Given the description of an element on the screen output the (x, y) to click on. 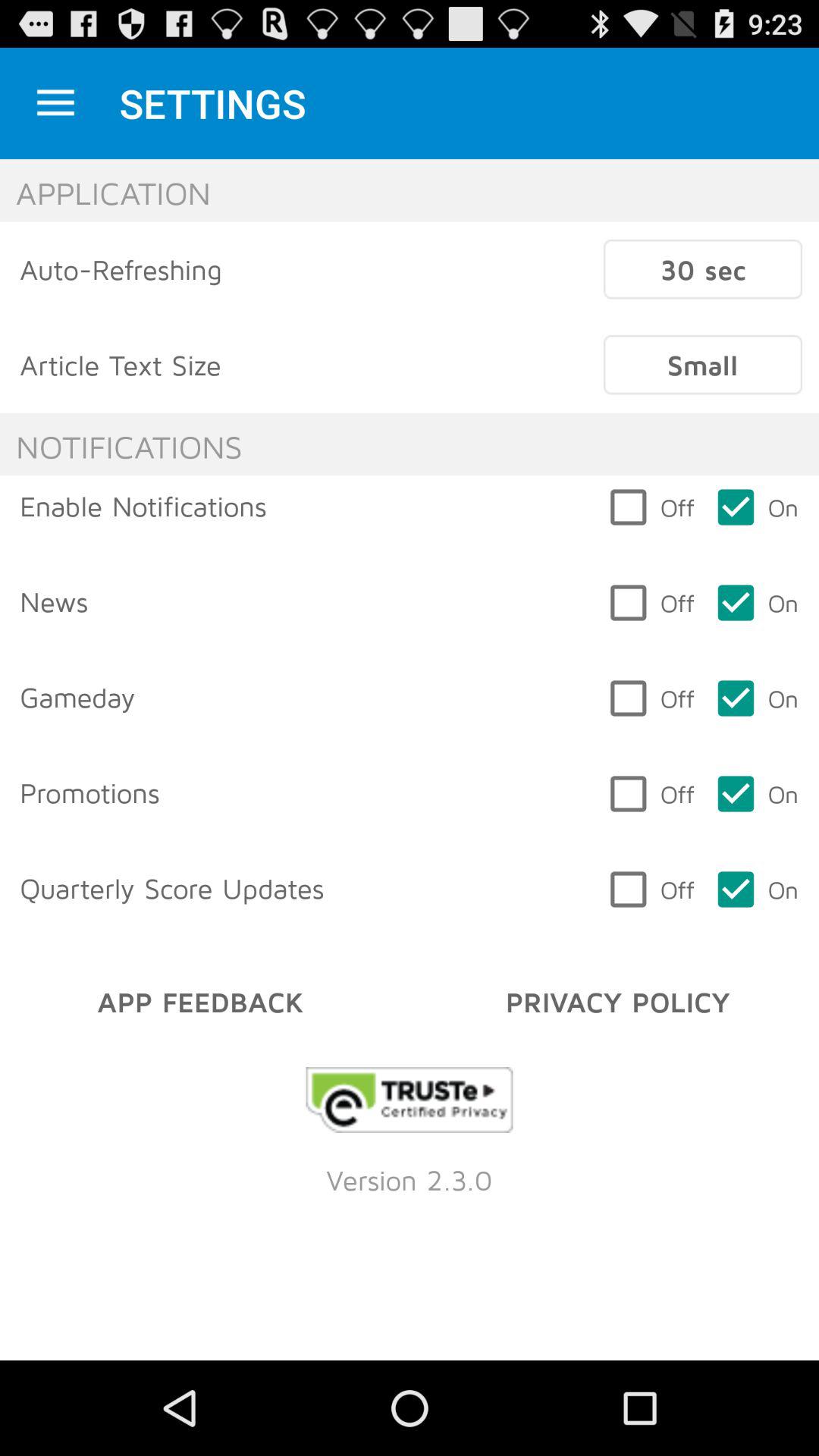
open menu (55, 103)
